Given the description of an element on the screen output the (x, y) to click on. 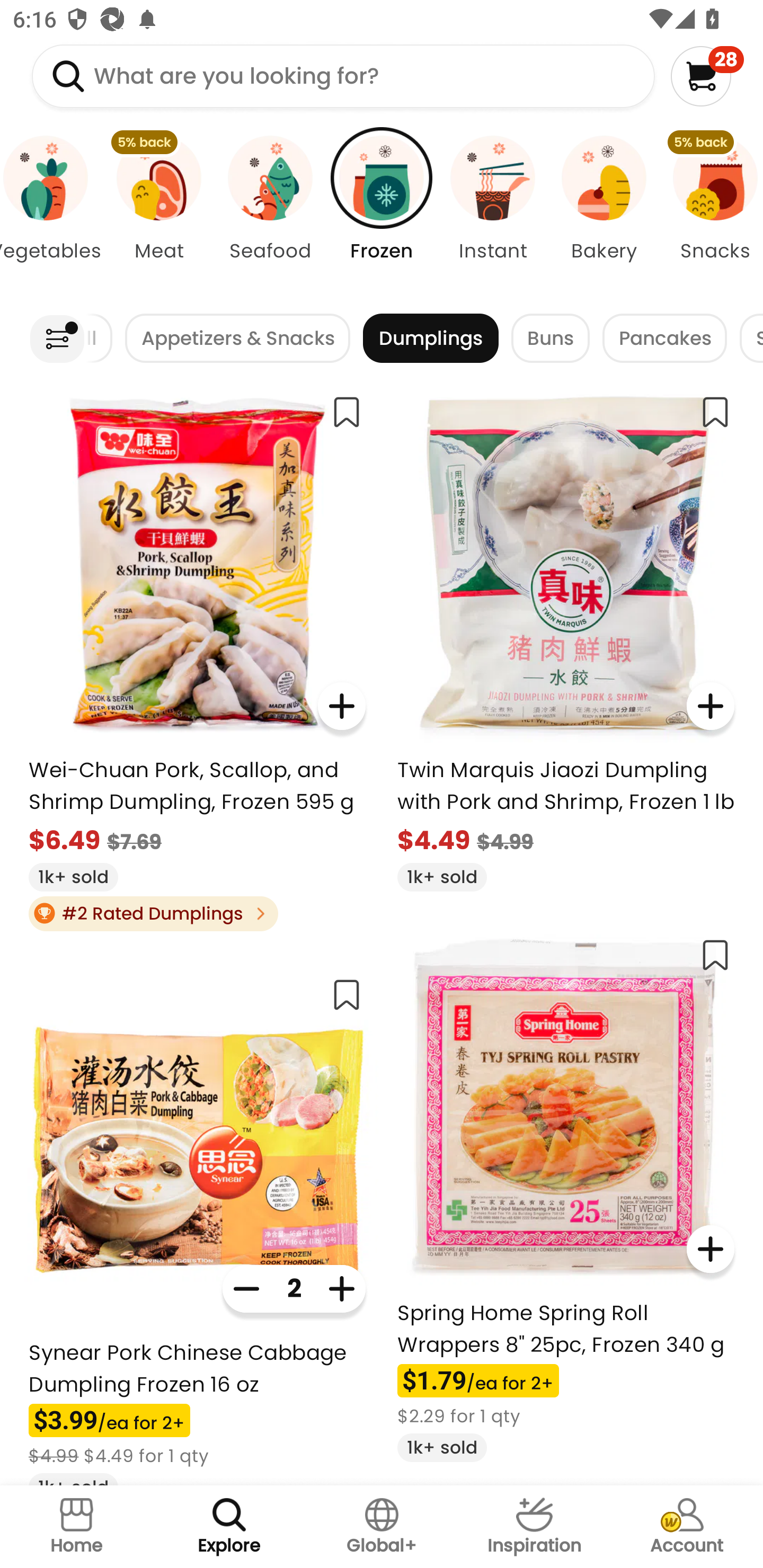
What are you looking for? (343, 75)
28 (706, 75)
Vegetables (51, 214)
5% back Meat (158, 214)
Seafood (269, 214)
Frozen (381, 214)
Instant (492, 214)
Bakery (603, 214)
5% back Snacks (711, 214)
Appetizers & Snacks (237, 337)
Dumplings (430, 337)
Buns (550, 337)
Pancakes (664, 337)
Home (76, 1526)
Explore (228, 1526)
Global+ (381, 1526)
Inspiration (533, 1526)
Account (686, 1526)
